Given the description of an element on the screen output the (x, y) to click on. 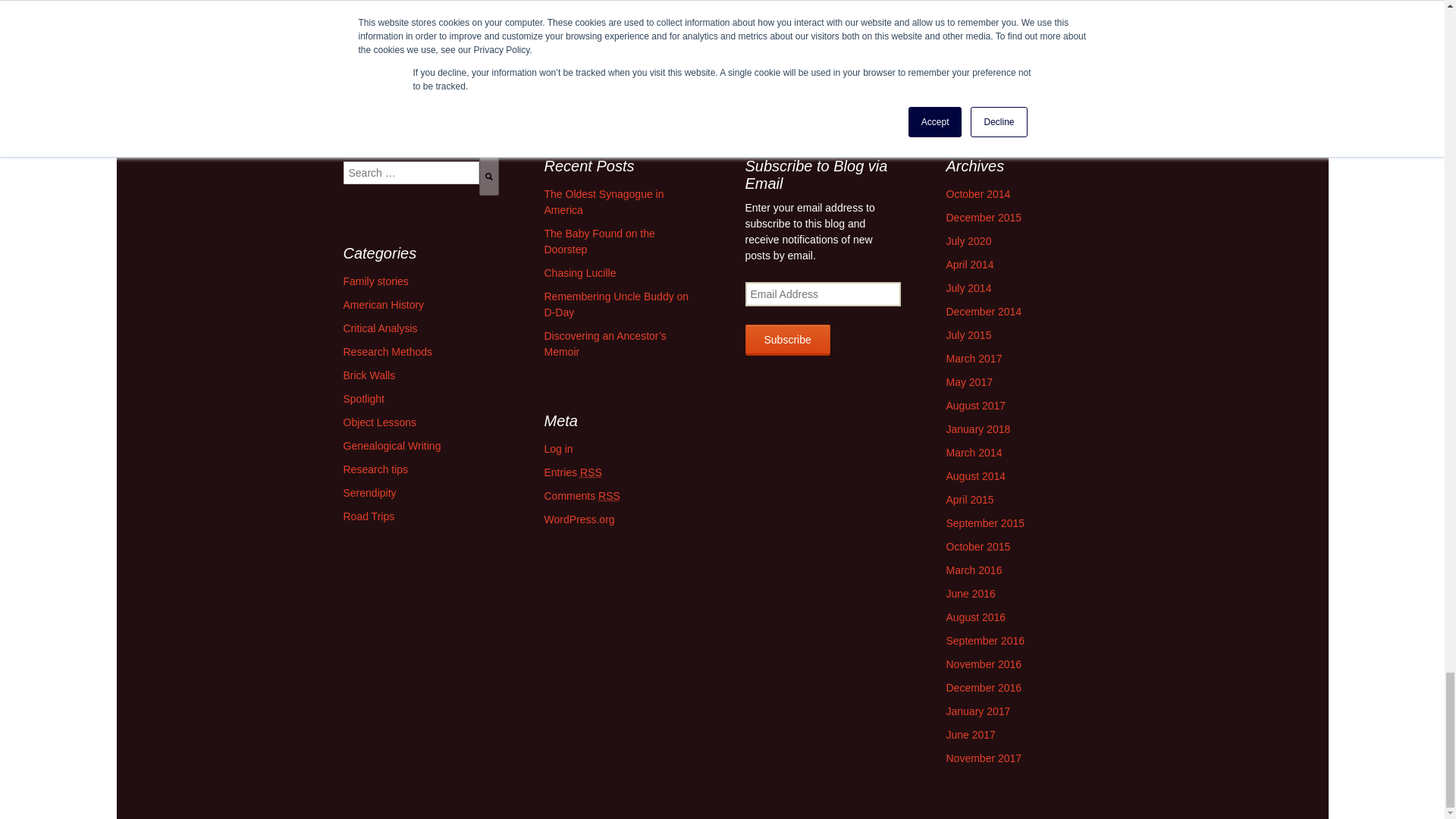
Subscribe (786, 339)
Really Simple Syndication (590, 472)
reCAPTCHA (590, 21)
Really Simple Syndication (609, 495)
Submit Comment (543, 69)
